Given the description of an element on the screen output the (x, y) to click on. 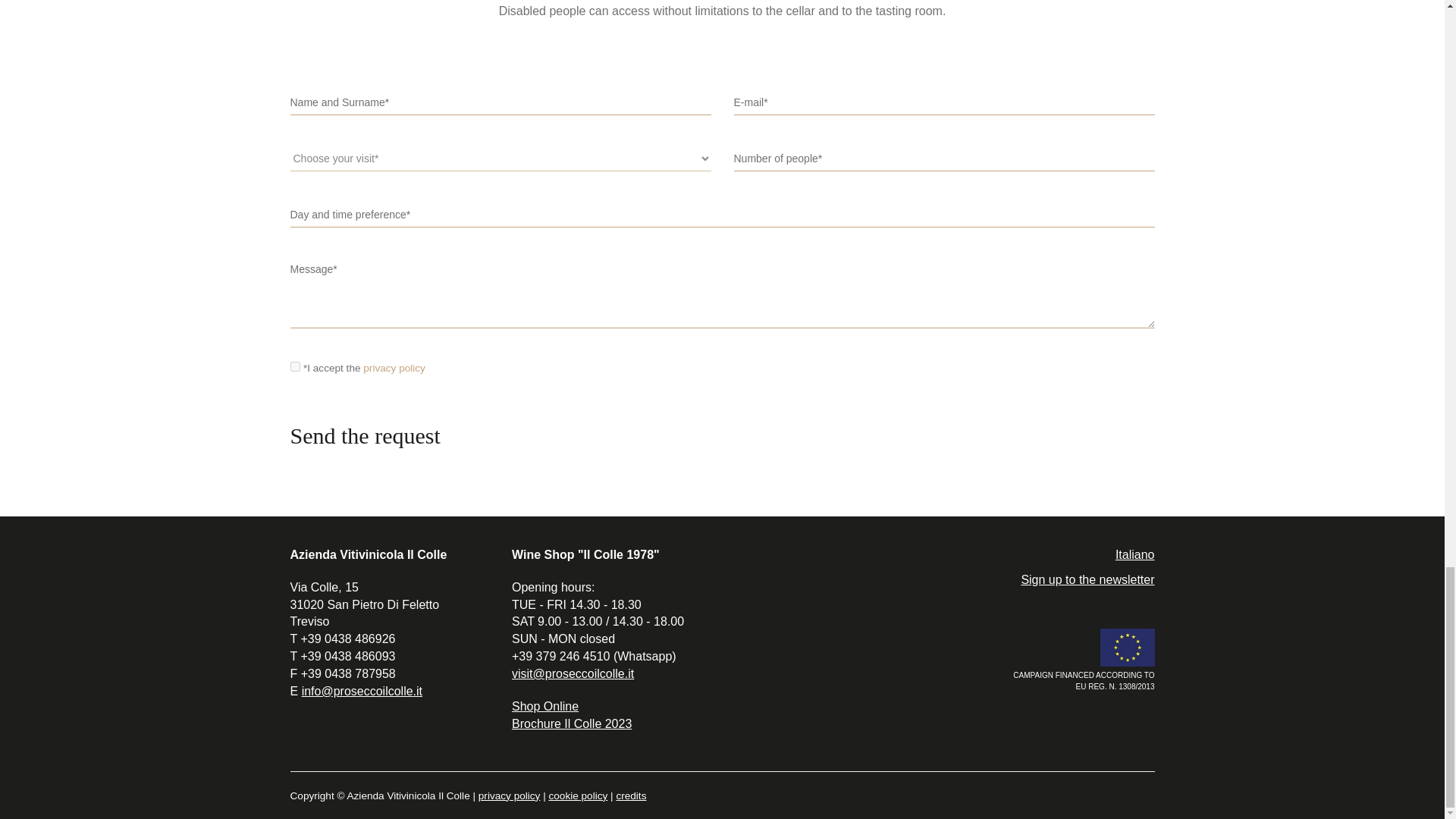
Send the request (371, 435)
Shop Online (545, 706)
euroflag (1126, 647)
Sign up to the newsletter (1087, 579)
1 (294, 366)
Italiano (1134, 554)
Brochure Il Colle 2023 (571, 723)
privacy policy (393, 367)
